Given the description of an element on the screen output the (x, y) to click on. 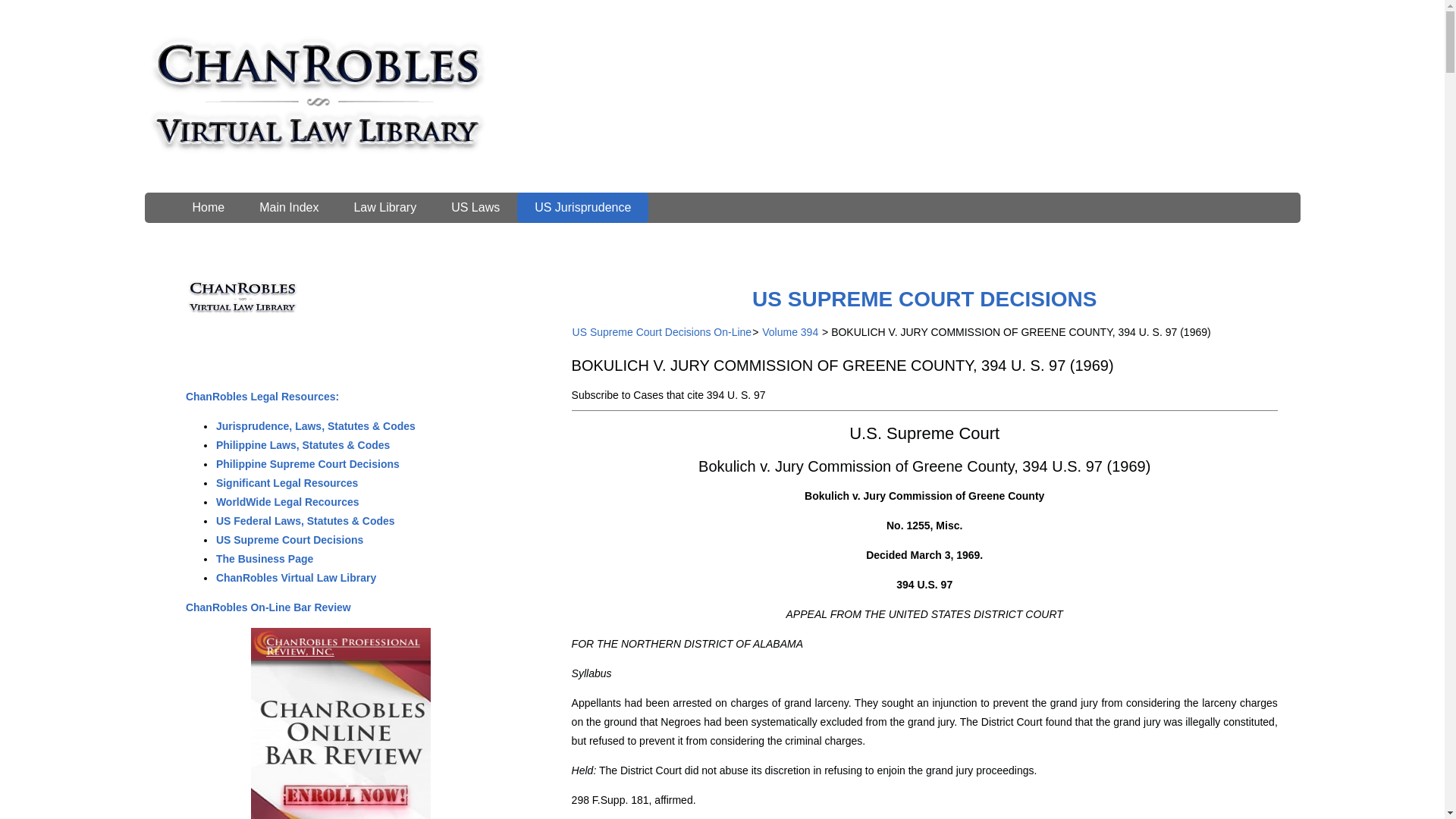
WorldWide Legal Recources (287, 501)
US Supreme Court Decisions (290, 539)
Volume 394 (789, 331)
Law Library (384, 207)
The Business Page (264, 558)
Main Index (288, 207)
United States Supreme Court Decisions - On-Line (924, 299)
ChanRobles On-Line Bar Review (268, 607)
US Jurisprudence (581, 207)
US Laws (474, 207)
Home (207, 207)
US SUPREME COURT DECISIONS (924, 299)
ChanRobles Legal Resources: (261, 396)
ChanRobles Virtual Law Library (296, 577)
Significant Legal Resources (287, 482)
